Given the description of an element on the screen output the (x, y) to click on. 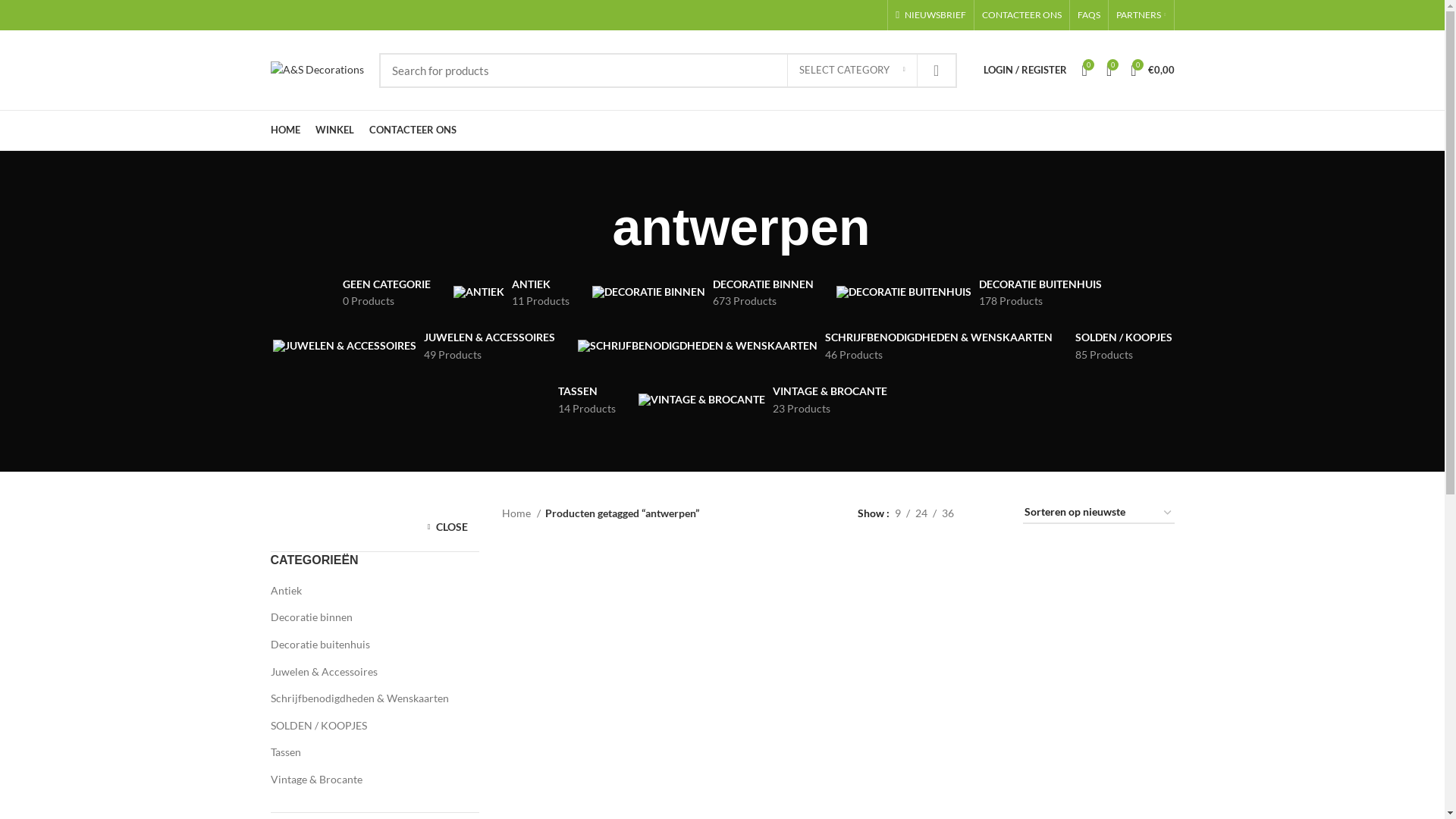
HOME Element type: text (284, 130)
FAQS Element type: text (1088, 15)
CONTACTEER ONS Element type: text (1021, 15)
36 Element type: text (946, 513)
PARTNERS Element type: text (1140, 15)
CLOSE Element type: text (445, 526)
Home Element type: text (521, 513)
Decoratie buitenhuis Element type: text (364, 644)
GEEN CATEGORIE
0 Products Element type: text (386, 293)
TASSEN
14 Products Element type: text (586, 399)
ANTIEK
11 Products Element type: text (511, 293)
SOLDEN / KOOPJES
85 Products Element type: text (1123, 346)
0 Element type: text (1084, 69)
Vintage & Brocante Element type: text (364, 779)
SCHRIJFBENODIGDHEDEN & WENSKAARTEN
46 Products Element type: text (814, 346)
LOGIN / REGISTER Element type: text (1024, 69)
CONTACTEER ONS Element type: text (411, 130)
Schrijfbenodigdheden & Wenskaarten Element type: text (364, 698)
Antiek Element type: text (364, 590)
Tassen Element type: text (364, 751)
Decoratie binnen Element type: text (364, 616)
Juwelen & Accessoires Element type: text (364, 671)
VINTAGE & BROCANTE
23 Products Element type: text (761, 399)
0 Element type: text (1108, 69)
Search for products Element type: hover (668, 70)
9 Element type: text (896, 513)
WINKEL Element type: text (334, 130)
NIEUWSBRIEF Element type: text (930, 15)
24 Element type: text (921, 513)
DECORATIE BUITENHUIS
178 Products Element type: text (969, 293)
SELECT CATEGORY Element type: text (852, 70)
DECORATIE BINNEN
673 Products Element type: text (702, 293)
SEARCH Element type: text (936, 70)
SOLDEN / KOOPJES Element type: text (364, 725)
JUWELEN & ACCESSOIRES
49 Products Element type: text (412, 346)
